Given the description of an element on the screen output the (x, y) to click on. 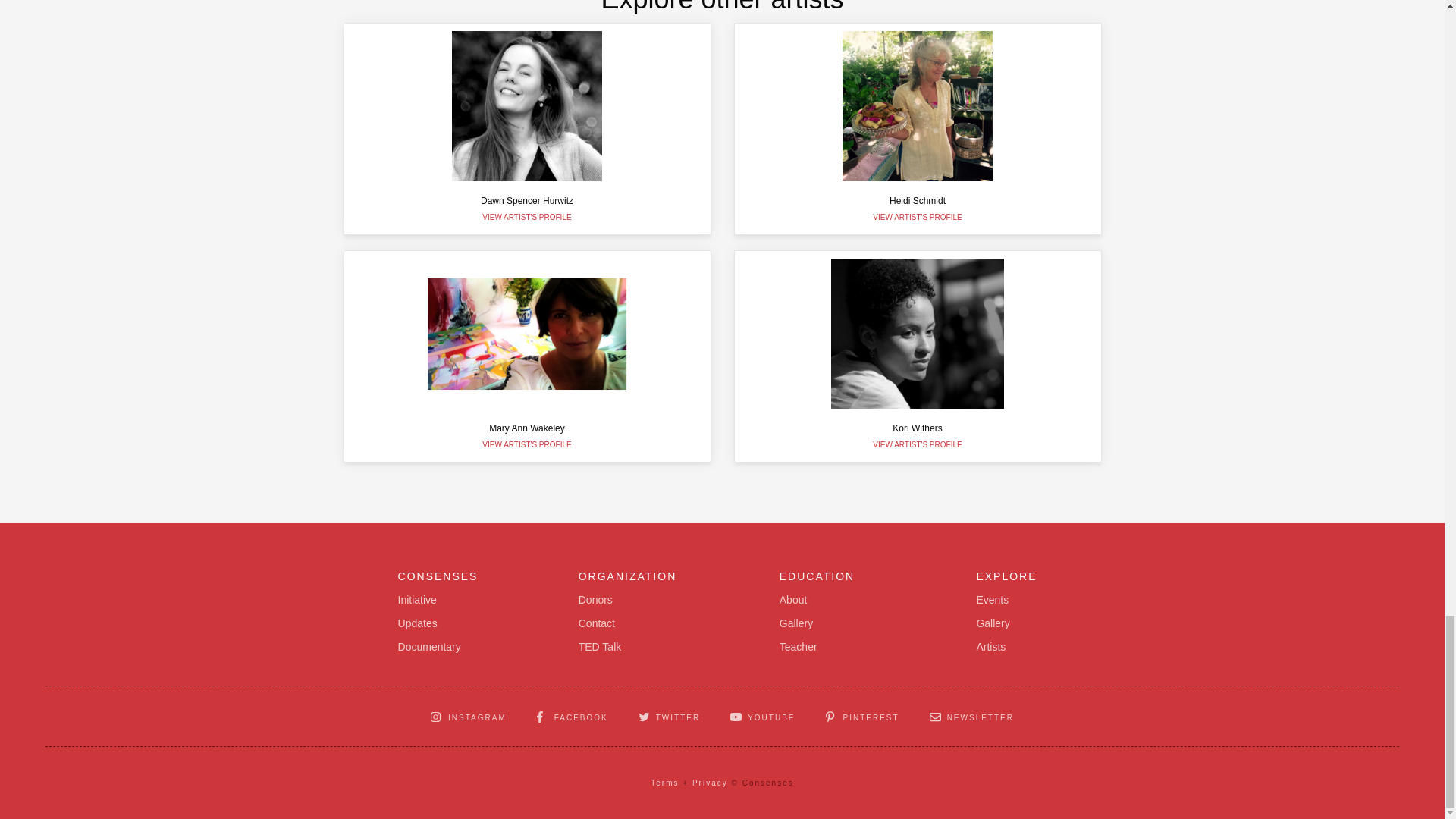
TED Talk (526, 356)
About (599, 647)
INSTAGRAM (526, 128)
Donors (793, 600)
Initiative (468, 716)
Gallery (917, 356)
Contact (595, 600)
